Given the description of an element on the screen output the (x, y) to click on. 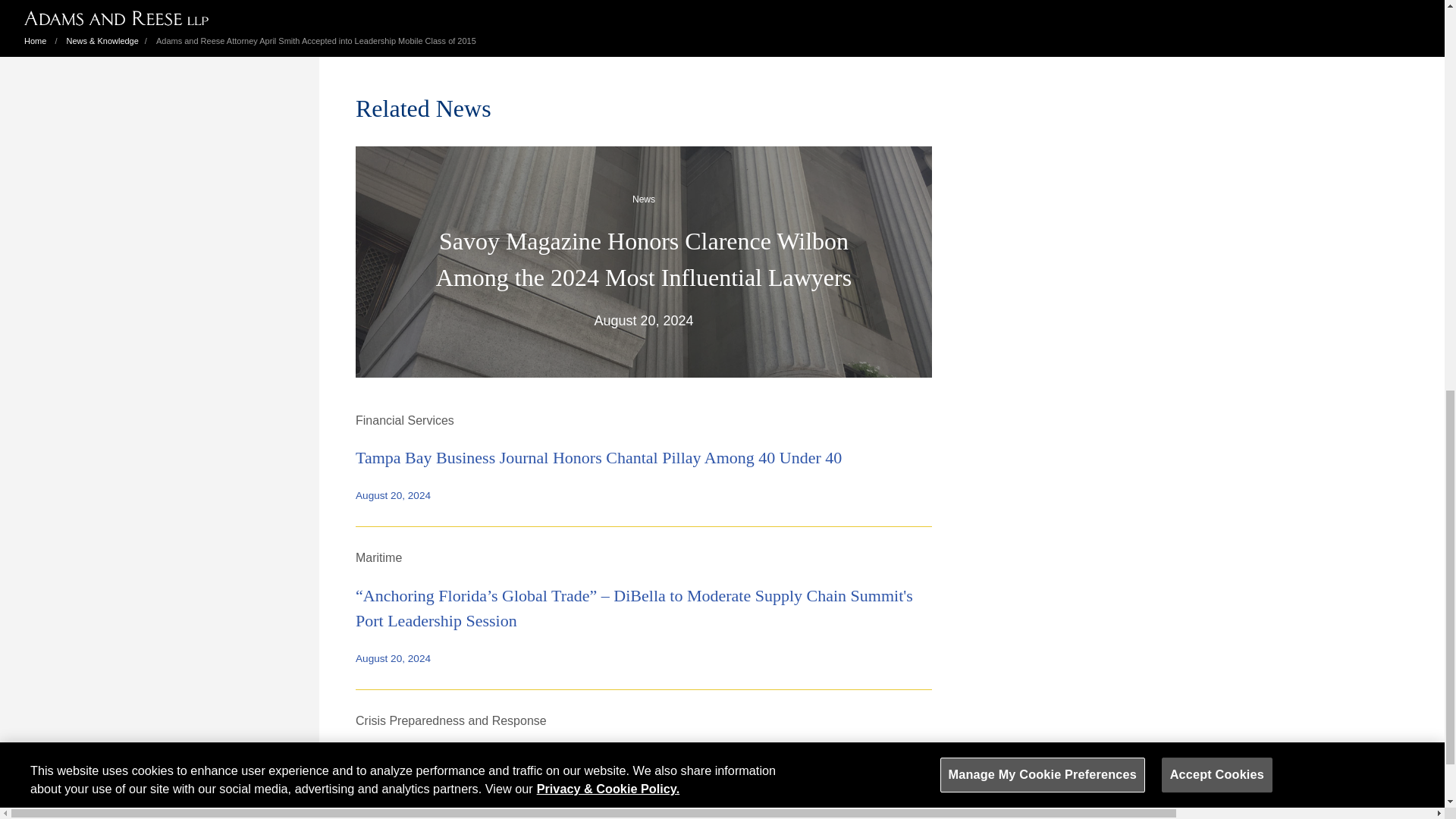
Maritime (378, 557)
Crisis Preparedness and Response (451, 720)
Financial Services (404, 420)
